Given the description of an element on the screen output the (x, y) to click on. 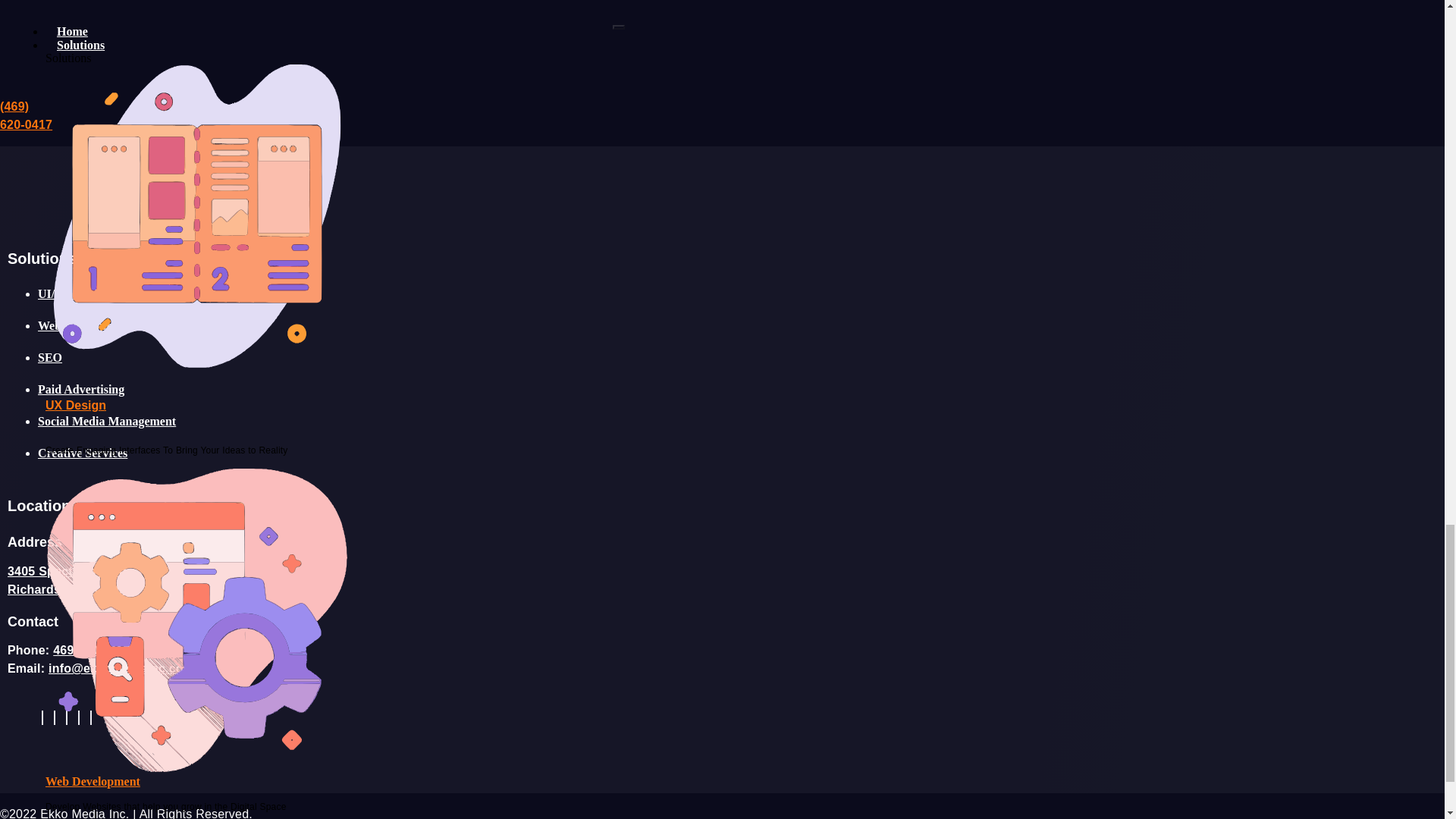
Contact Us (67, 50)
iOS 14.5 Configuration and your Facebook Campaigns (187, 774)
Discover (79, 801)
Social Media Marketing (112, 287)
Holistic Approach to Digital Marketing (146, 788)
About Us (80, 814)
Paid Advertising (80, 389)
SEO (49, 357)
Web Development (84, 325)
Creative Services (82, 452)
